Given the description of an element on the screen output the (x, y) to click on. 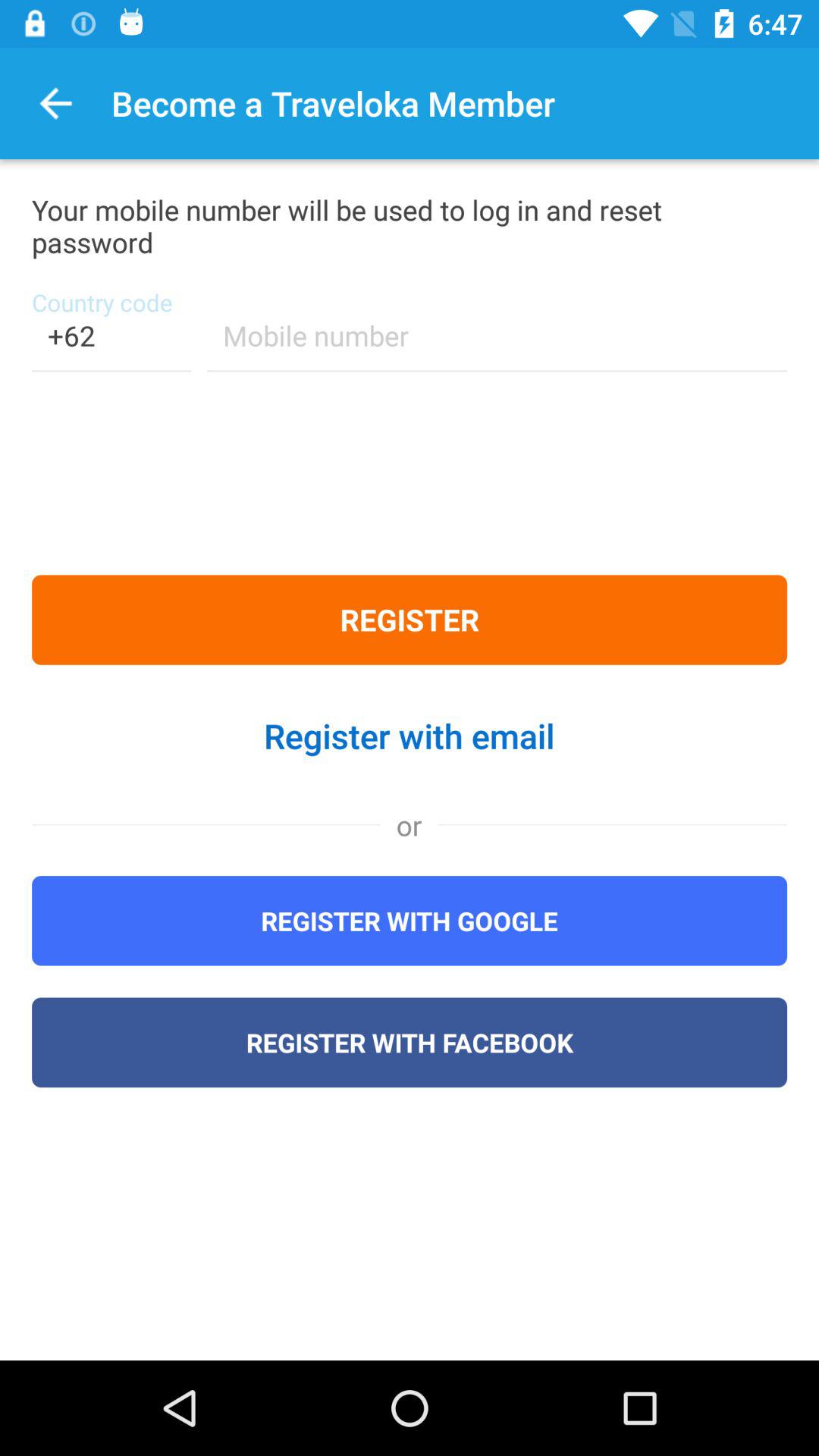
enter phone number (497, 345)
